Given the description of an element on the screen output the (x, y) to click on. 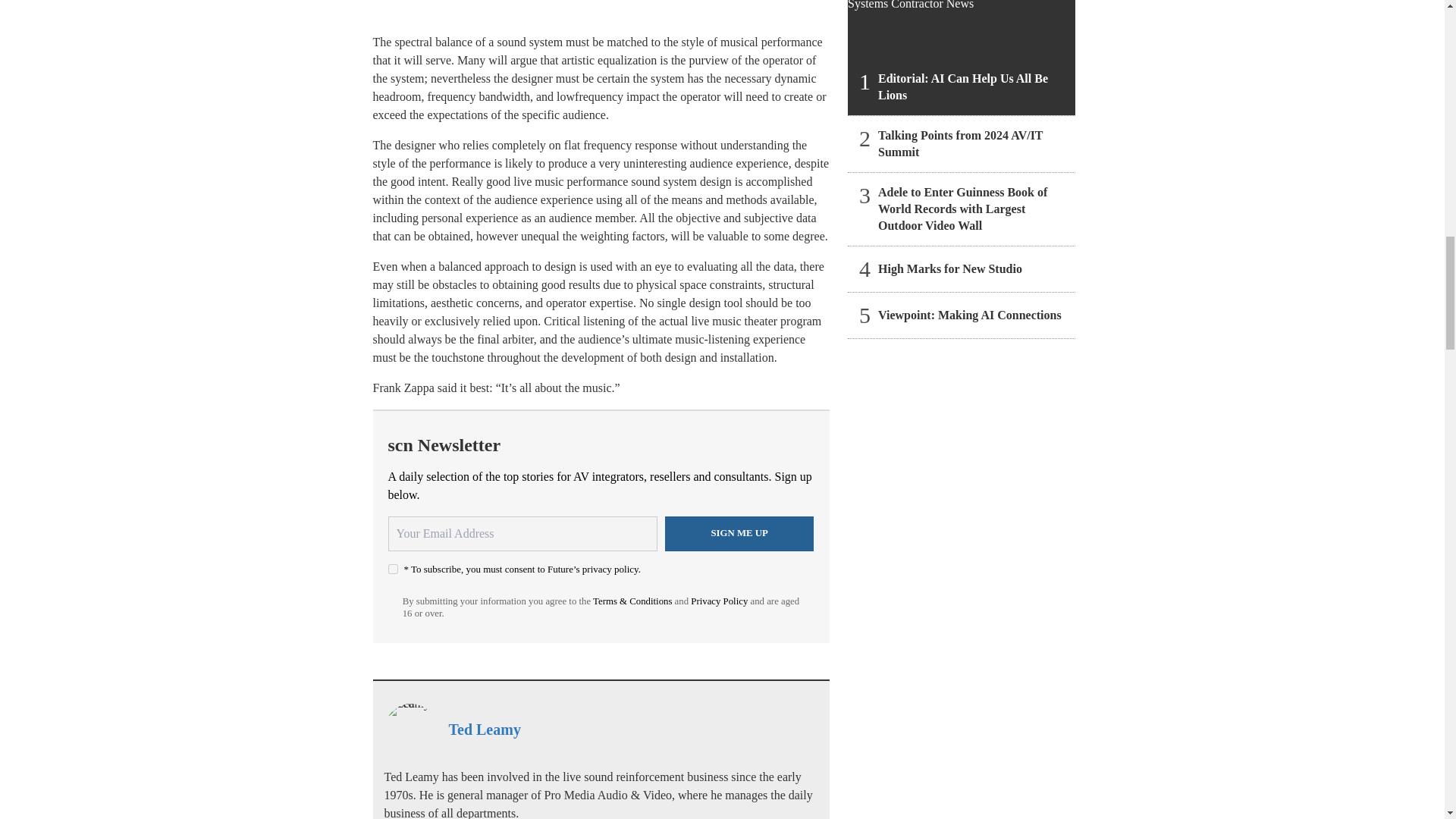
Sign me up (739, 533)
Editorial: AI Can Help Us All Be Lions (961, 57)
Sign me up (739, 533)
on (392, 569)
Ted Leamy (484, 729)
Privacy Policy (719, 601)
